Given the description of an element on the screen output the (x, y) to click on. 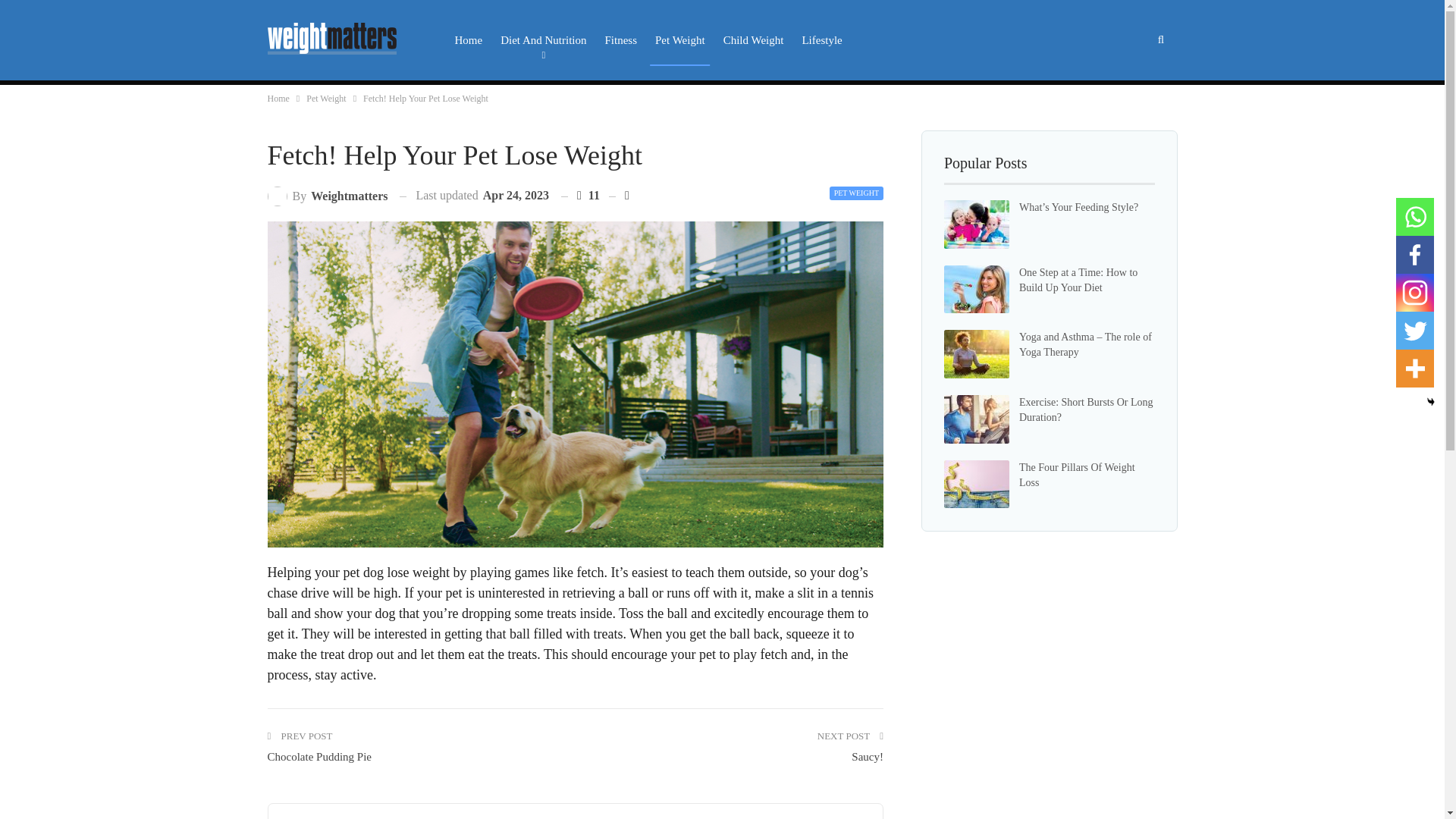
By Weightmatters (326, 195)
More (1415, 368)
Pet Weight (679, 40)
Browse Author Articles (326, 195)
Pet Weight (325, 98)
PET WEIGHT (856, 192)
Diet And Nutrition (543, 40)
Home (277, 98)
Facebook (1415, 254)
Instagram (1415, 292)
Twitter (1415, 330)
Hide (1431, 401)
Child Weight (753, 40)
Saucy! (867, 756)
Lifestyle (821, 40)
